Given the description of an element on the screen output the (x, y) to click on. 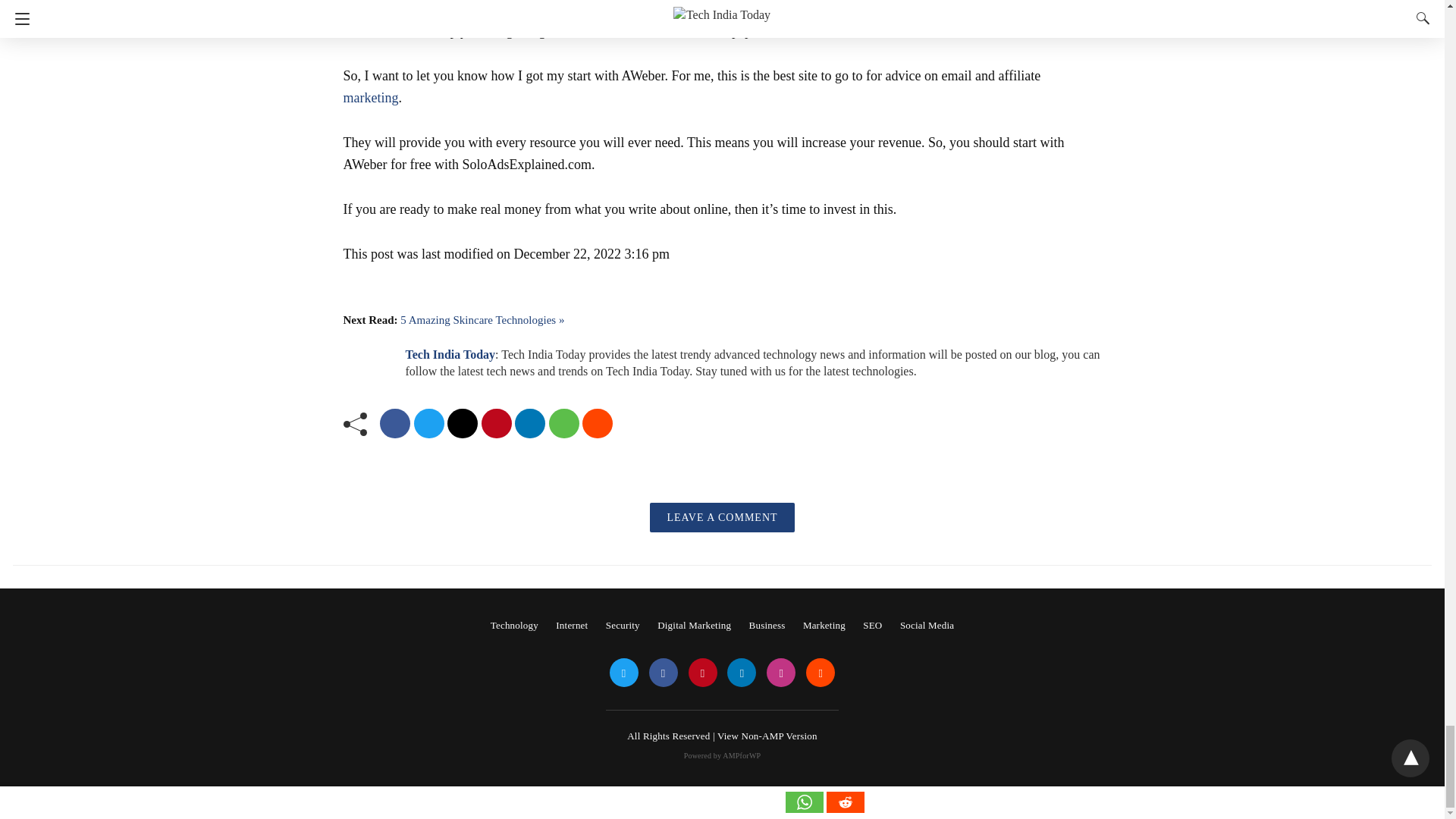
facebook share (395, 423)
whatsapp share (563, 423)
linkedin share (529, 423)
software (366, 30)
Tech India Today (449, 354)
mailto (461, 423)
pinterest share (495, 423)
twitter share (428, 423)
marketing (369, 97)
